Given the description of an element on the screen output the (x, y) to click on. 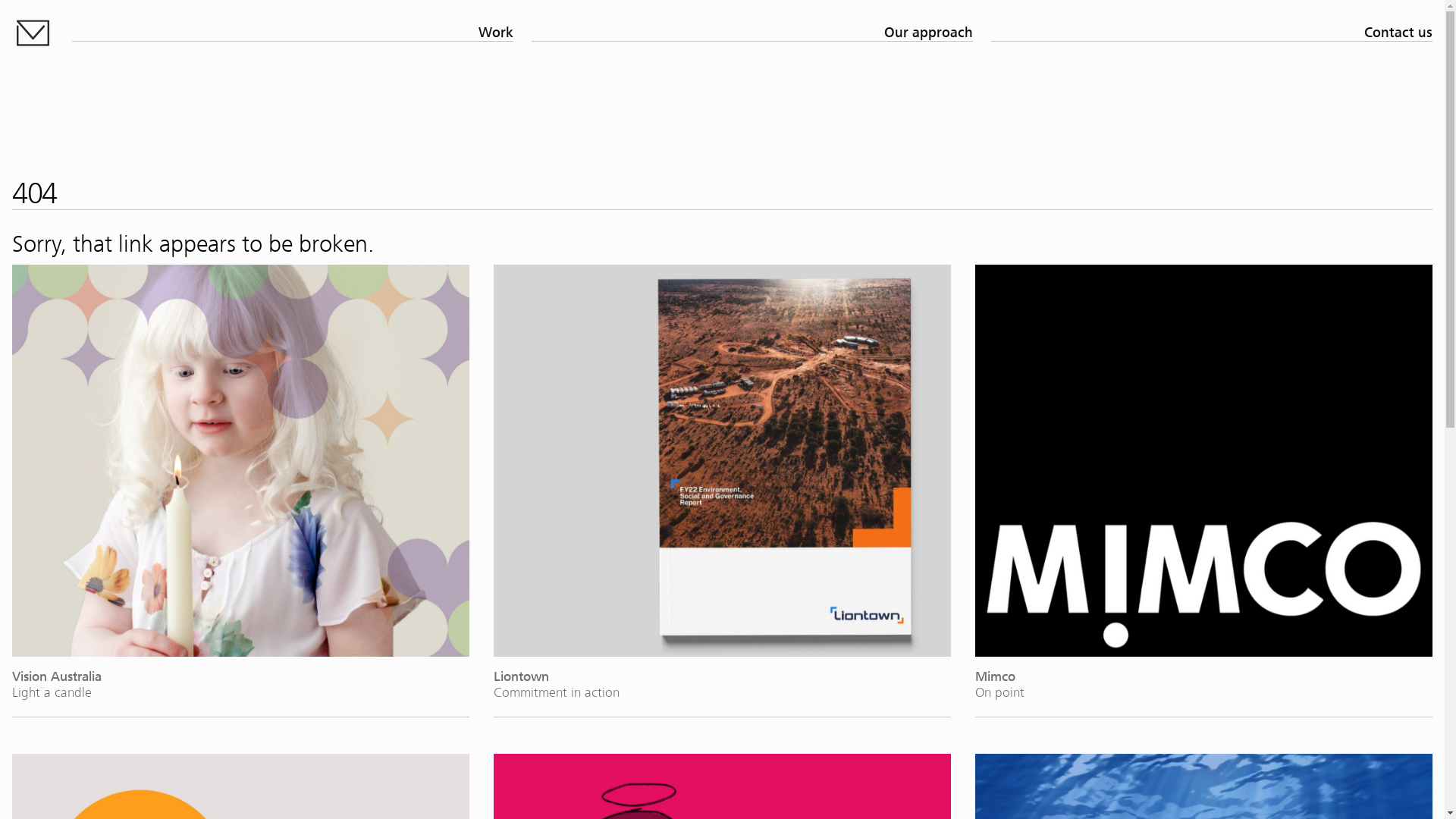
Contact us Element type: text (1211, 32)
Vision Australia
Light a candle Element type: text (240, 482)
Mimco
On point Element type: text (1203, 482)
Our approach Element type: text (751, 32)
Liontown
Commitment in action Element type: text (721, 482)
Work Element type: text (292, 32)
